Given the description of an element on the screen output the (x, y) to click on. 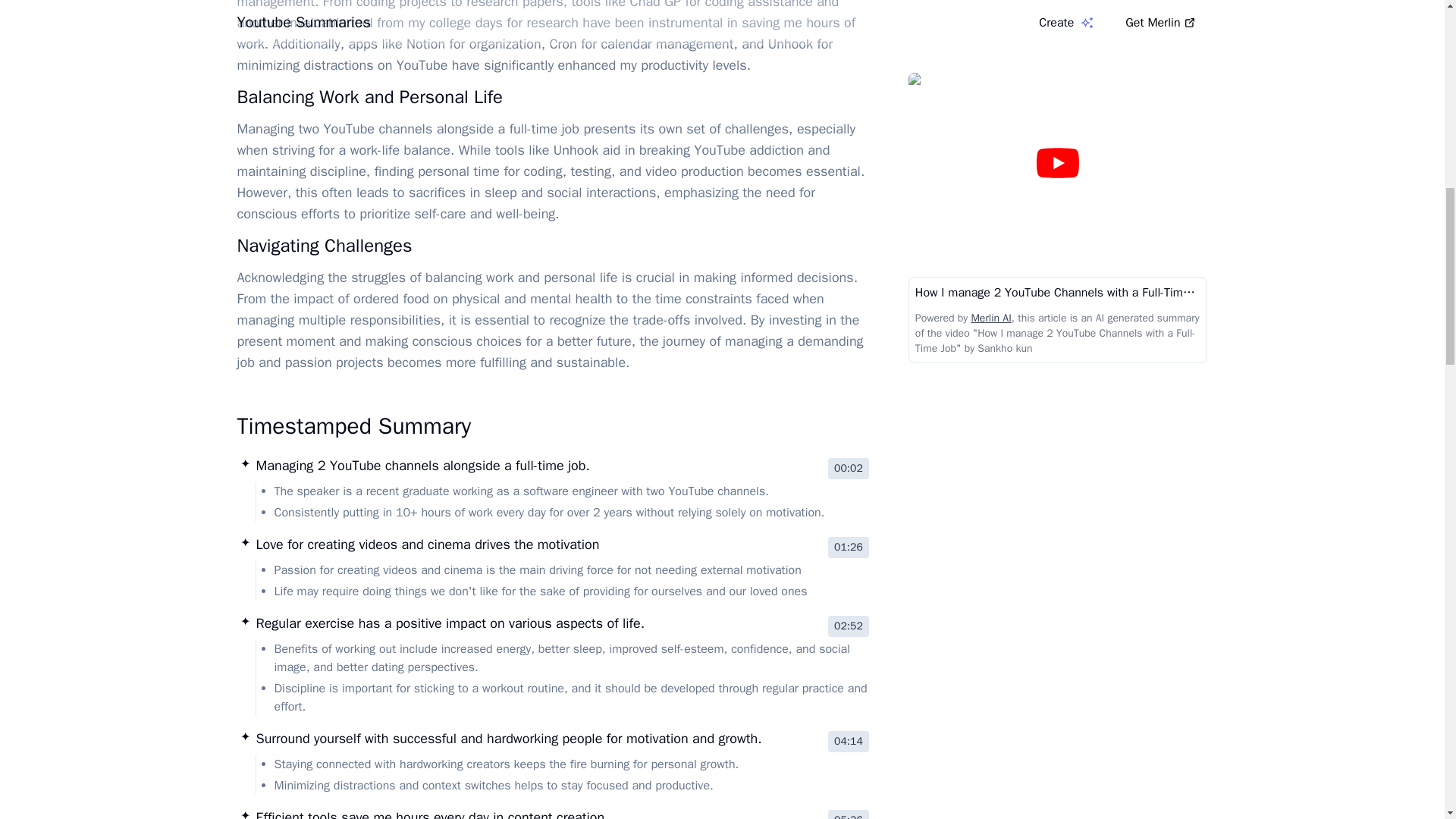
05:36 (848, 814)
00:02 (848, 468)
04:14 (848, 741)
01:26 (848, 547)
02:52 (848, 626)
